Given the description of an element on the screen output the (x, y) to click on. 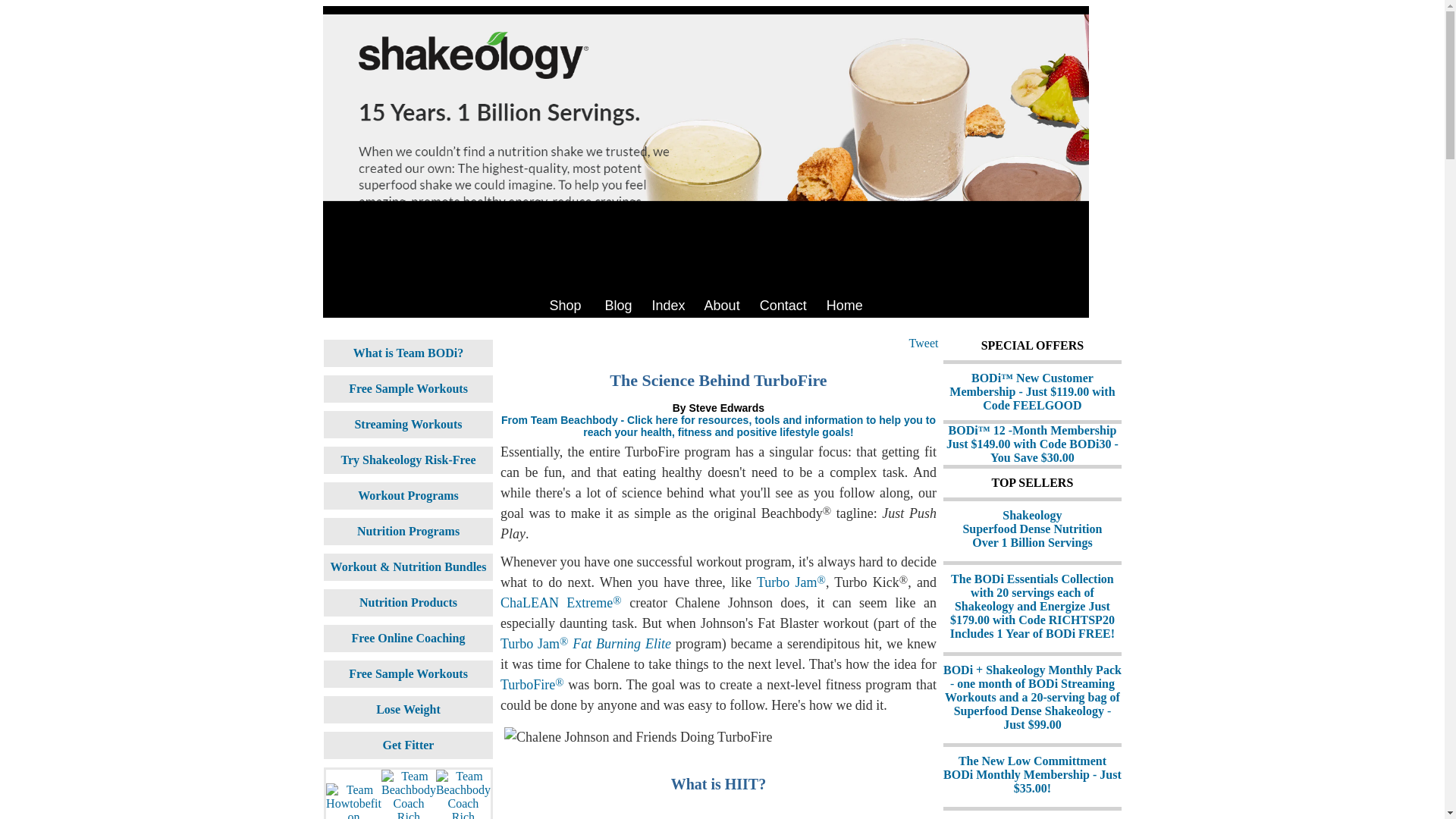
Index (668, 305)
Free Sample Workouts (1032, 528)
Try Shakeology Risk-Free (408, 388)
Tweet (408, 459)
Shop (923, 342)
What is Team BODi? (564, 305)
Streaming Workouts (408, 352)
Home (407, 423)
Workout Programs (845, 305)
